Given the description of an element on the screen output the (x, y) to click on. 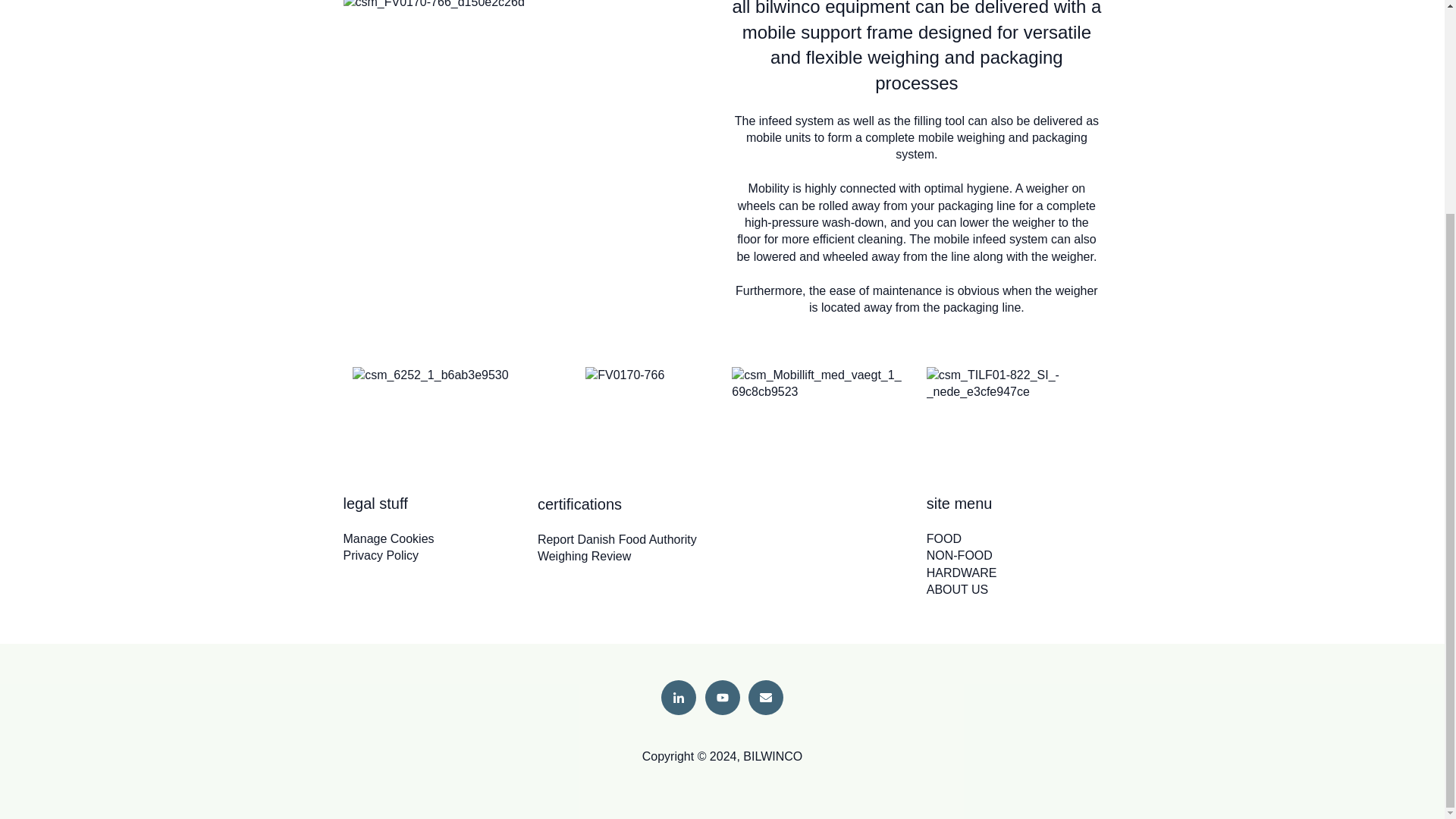
FV0170-766 (624, 375)
